Given the description of an element on the screen output the (x, y) to click on. 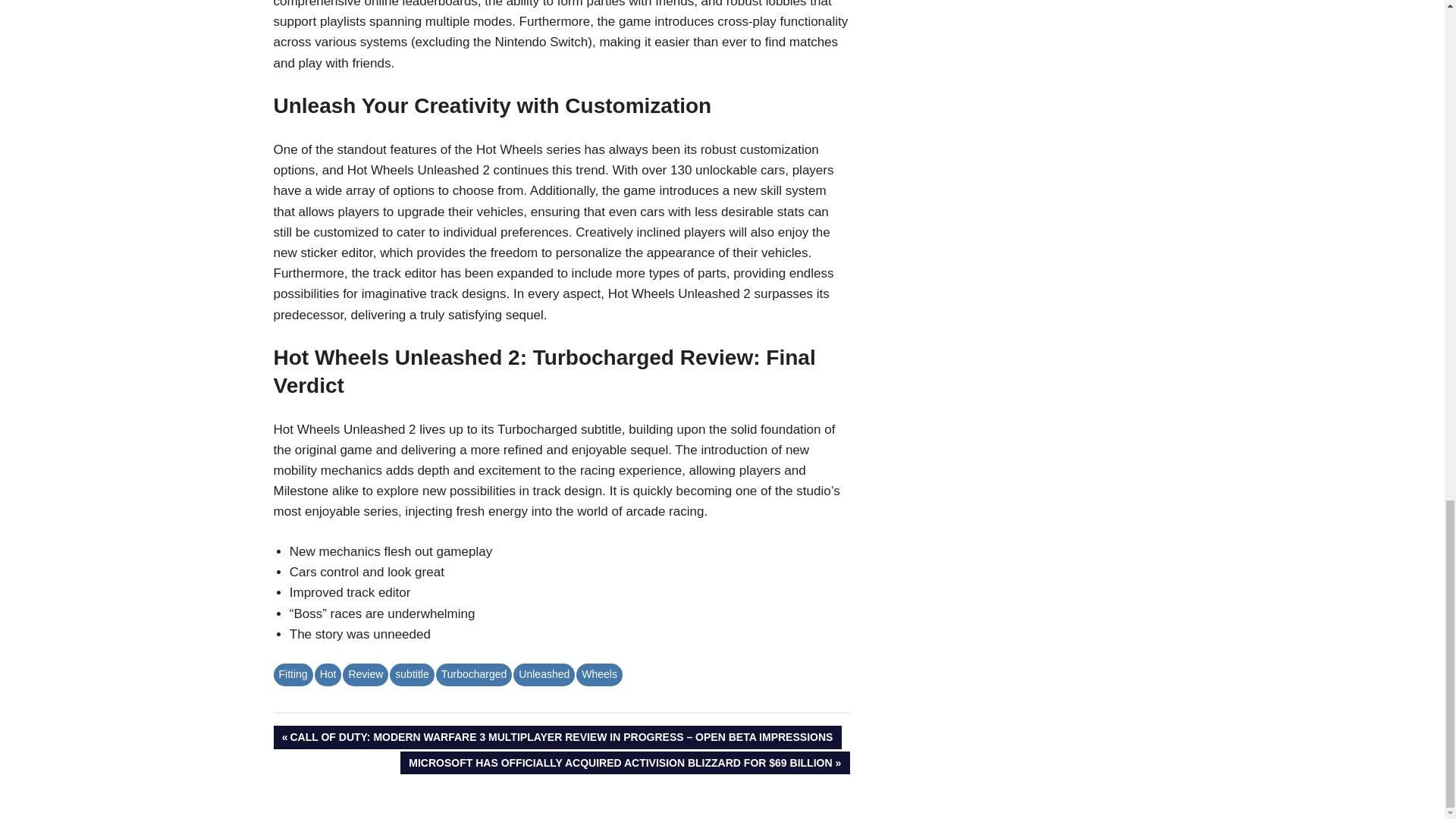
Unleashed (544, 674)
Turbocharged (473, 674)
subtitle (411, 674)
Review (365, 674)
Fitting (293, 674)
Hot (328, 674)
Wheels (599, 674)
